Given the description of an element on the screen output the (x, y) to click on. 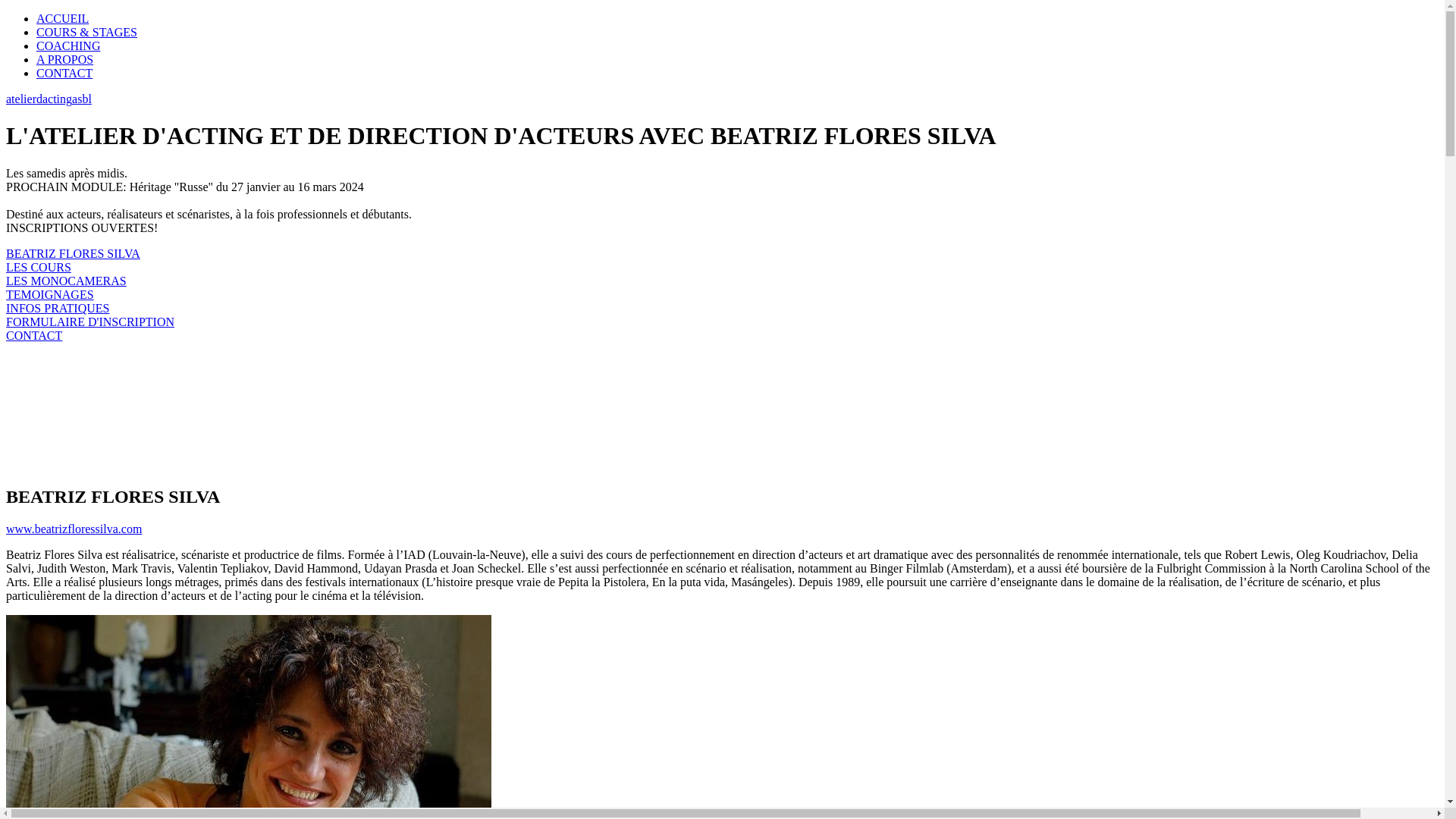
TEMOIGNAGES Element type: text (50, 294)
COACHING Element type: text (68, 45)
CONTACT Element type: text (34, 335)
A PROPOS Element type: text (64, 59)
BEATRIZ FLORES SILVA Element type: text (73, 253)
LES MONOCAMERAS Element type: text (66, 280)
CONTACT Element type: text (64, 72)
FORMULAIRE D'INSCRIPTION Element type: text (90, 321)
INFOS PRATIQUES Element type: text (57, 307)
ACCUEIL Element type: text (62, 18)
LES COURS Element type: text (38, 266)
www.beatrizfloressilva.com Element type: text (73, 528)
atelierdactingasbl Element type: text (48, 98)
COURS & STAGES Element type: text (86, 31)
